Given the description of an element on the screen output the (x, y) to click on. 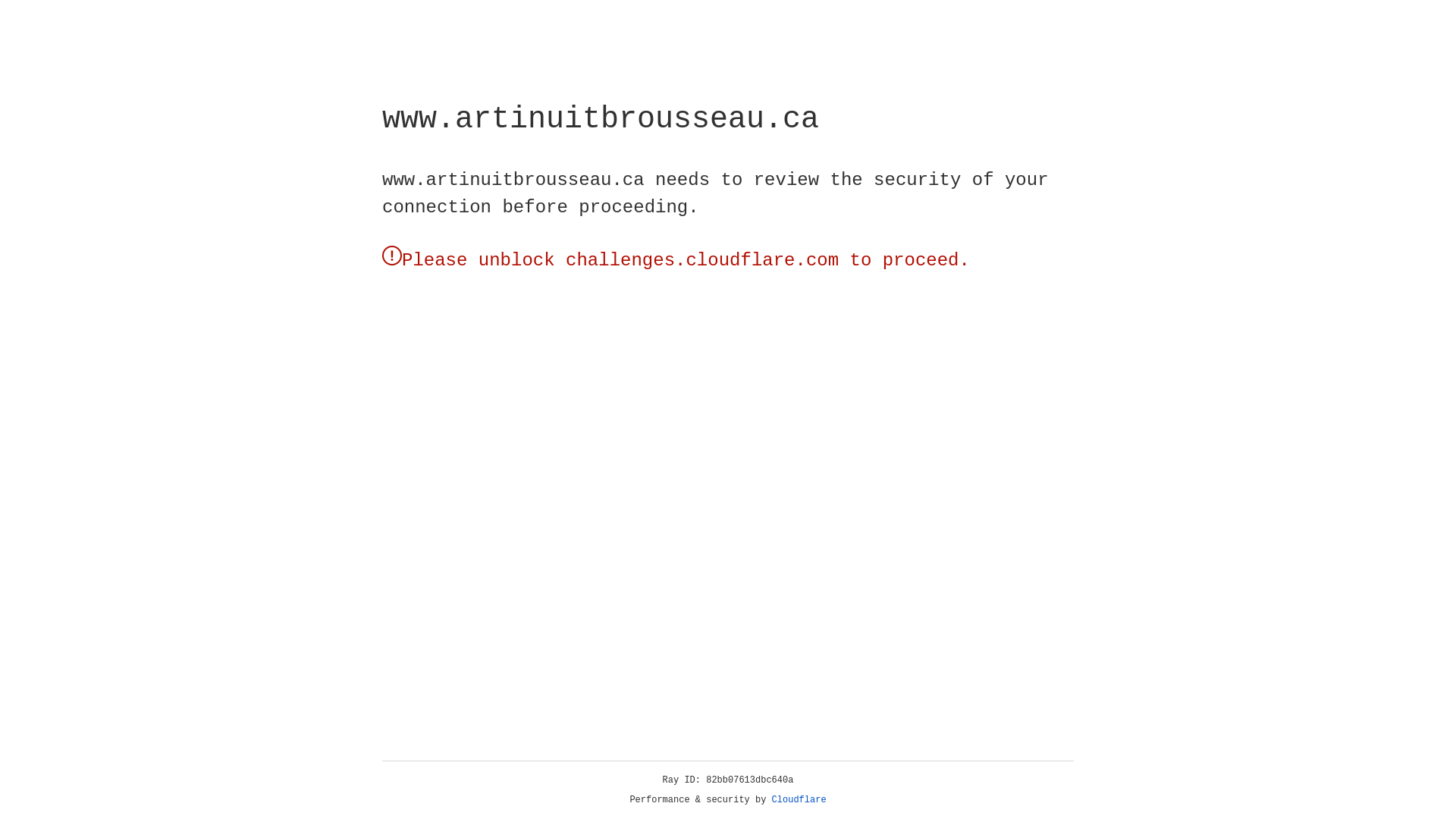
Cloudflare Element type: text (798, 799)
